Given the description of an element on the screen output the (x, y) to click on. 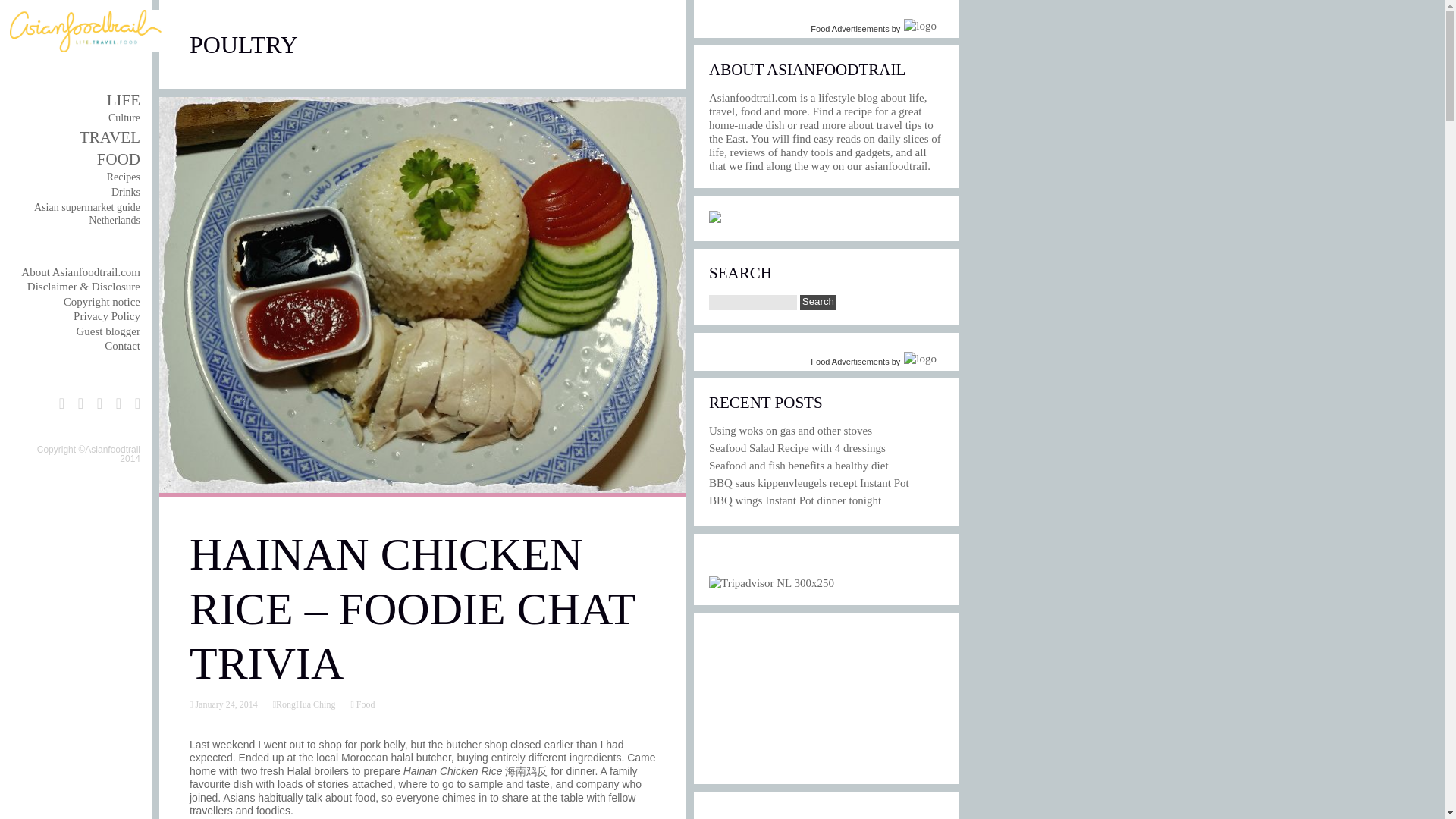
Drinks (125, 192)
TRAVEL (109, 136)
FOOD (118, 158)
RongHua Ching (305, 704)
Contact (121, 345)
LIFE (122, 99)
Guest blogger (107, 331)
Recipes (122, 176)
About Asianfoodtrail.com (80, 272)
Asian supermarket guide Netherlands (86, 213)
